Given the description of an element on the screen output the (x, y) to click on. 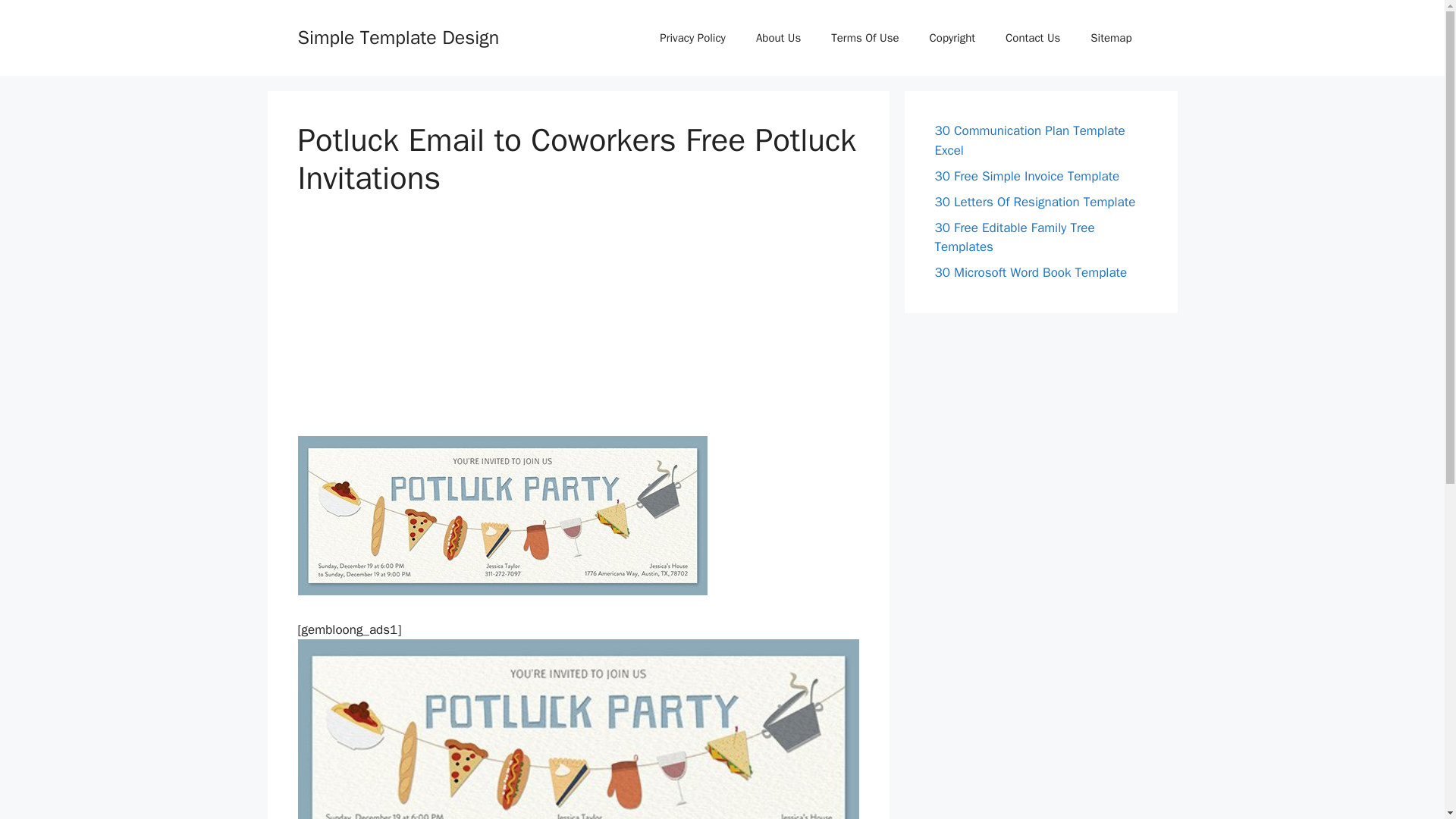
Advertisement (578, 329)
30 Free Editable Family Tree Templates (1014, 237)
Contact Us (1032, 37)
Copyright (952, 37)
Terms Of Use (864, 37)
Privacy Policy (693, 37)
About Us (778, 37)
Free Potluck Invitations (578, 729)
Sitemap (1111, 37)
30 Communication Plan Template Excel (1029, 140)
